Given the description of an element on the screen output the (x, y) to click on. 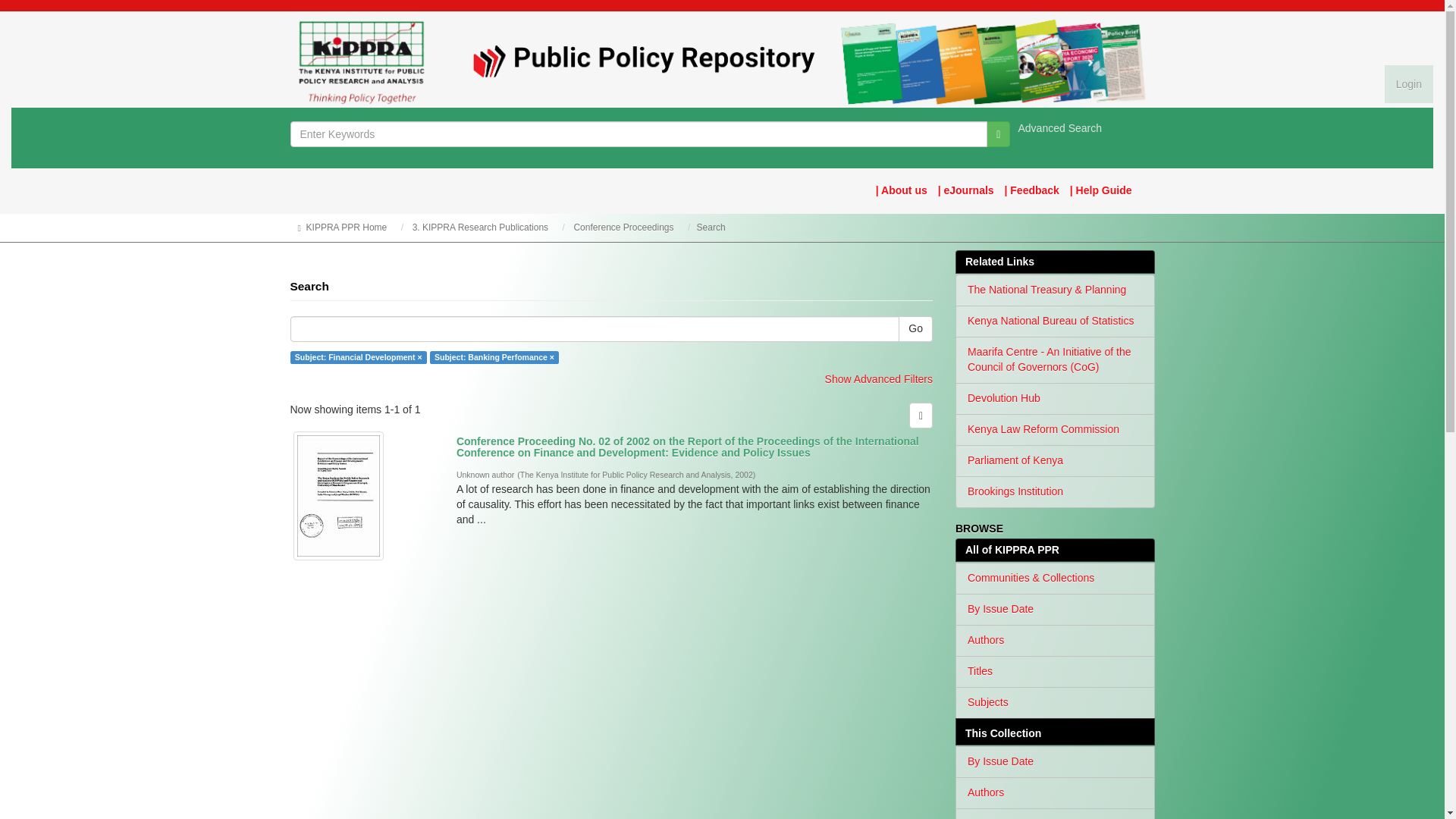
KIPPRA PPR Home (346, 226)
Go (915, 329)
Advanced Search (1059, 128)
3. KIPPRA Research Publications (480, 226)
Login (1408, 84)
Go (998, 134)
Show Advanced Filters (879, 378)
Conference Proceedings (622, 226)
